Given the description of an element on the screen output the (x, y) to click on. 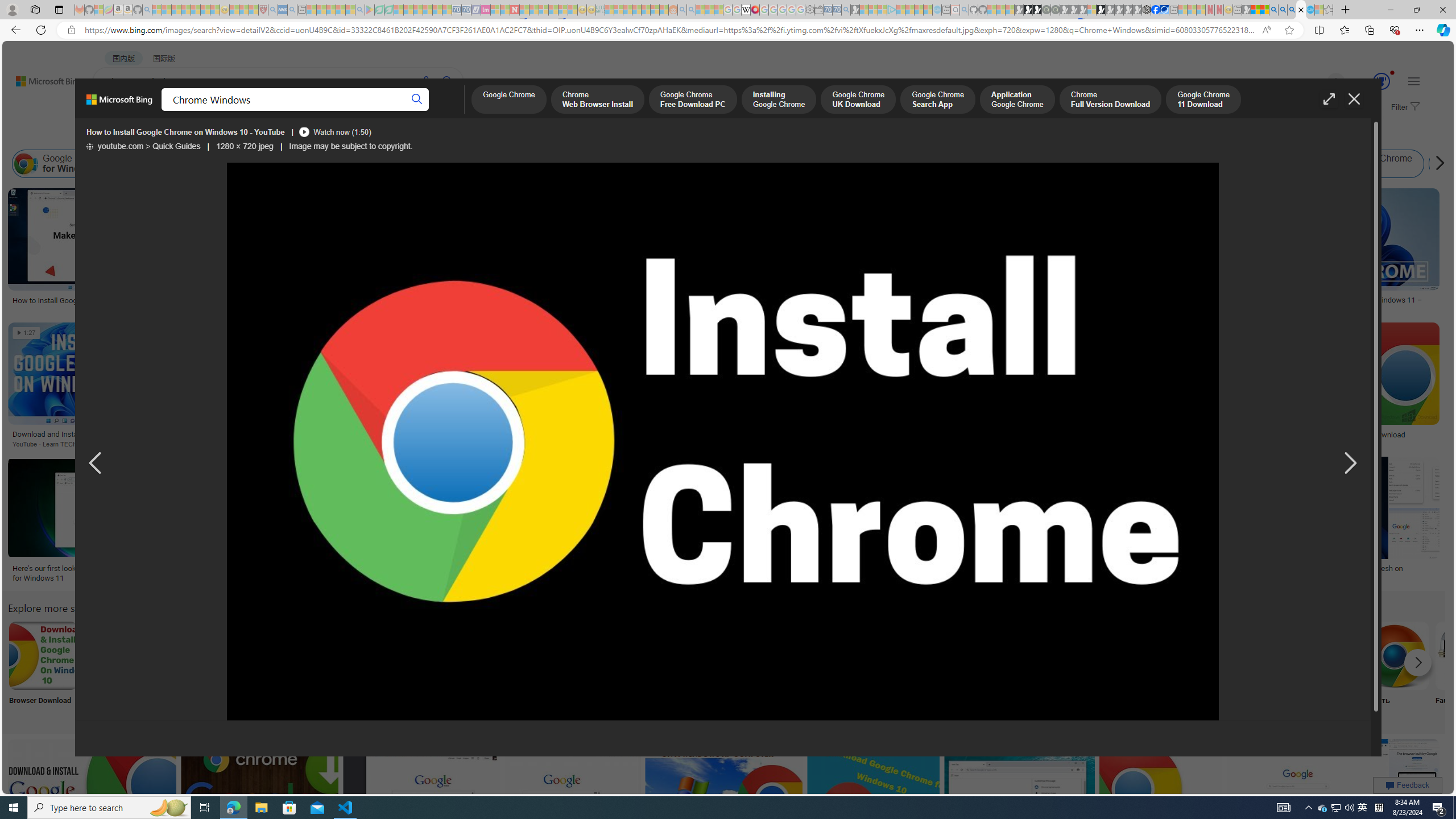
Windows 8 Chrome (137, 163)
Acer Chromebooks (877, 296)
Chrome New Logo (1018, 654)
Search button (417, 99)
Image may be subject to copyright. (350, 146)
How to Download and Install Google Chrome Windows (801, 568)
5:14 (198, 748)
list of asthma inhalers uk - Search - Sleeping (272, 9)
Get Google Chrome Get Google (944, 669)
Microsoft Start Gaming - Sleeping (854, 9)
